Given the description of an element on the screen output the (x, y) to click on. 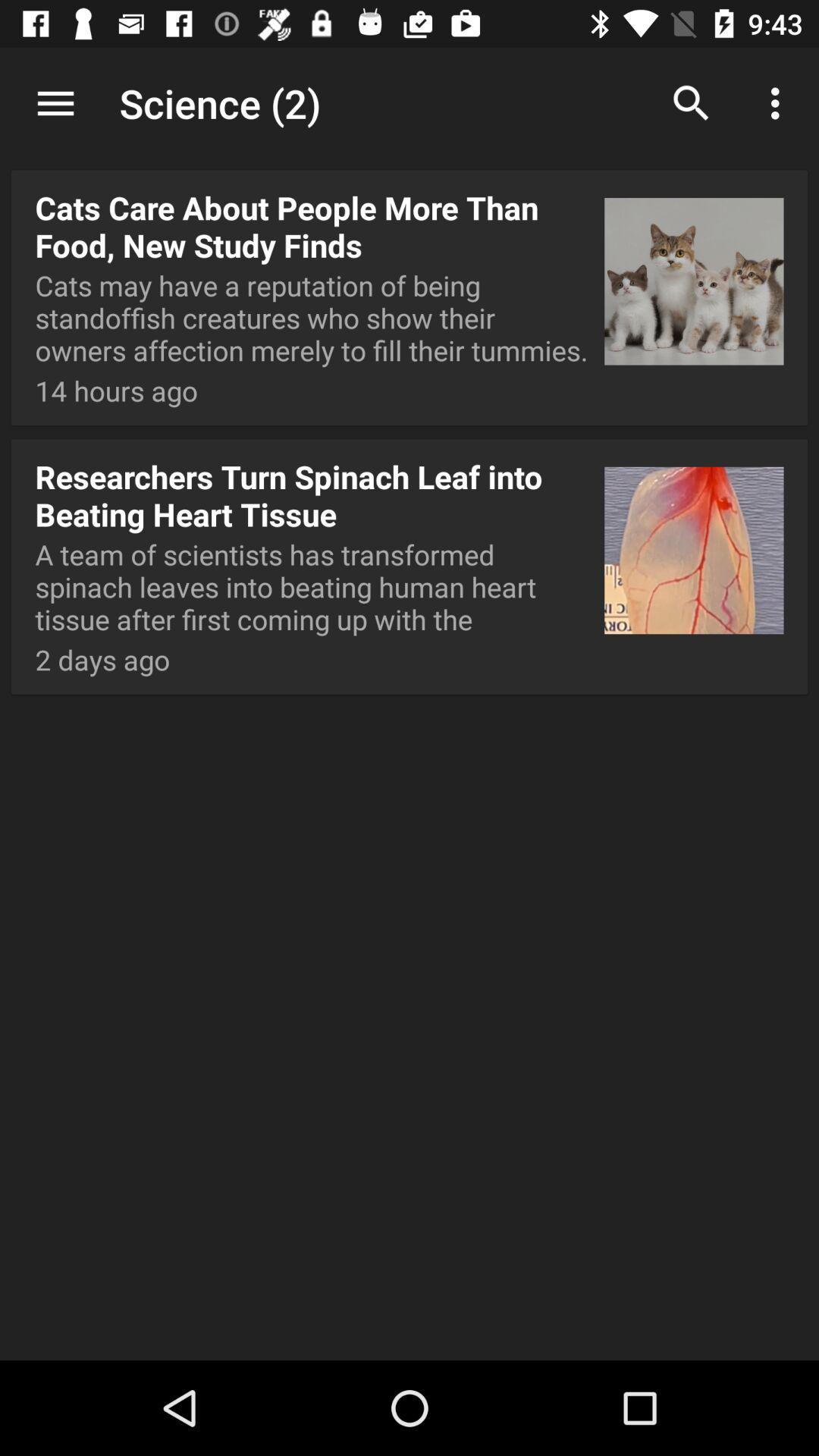
press the item to the right of the science (2) icon (691, 103)
